Given the description of an element on the screen output the (x, y) to click on. 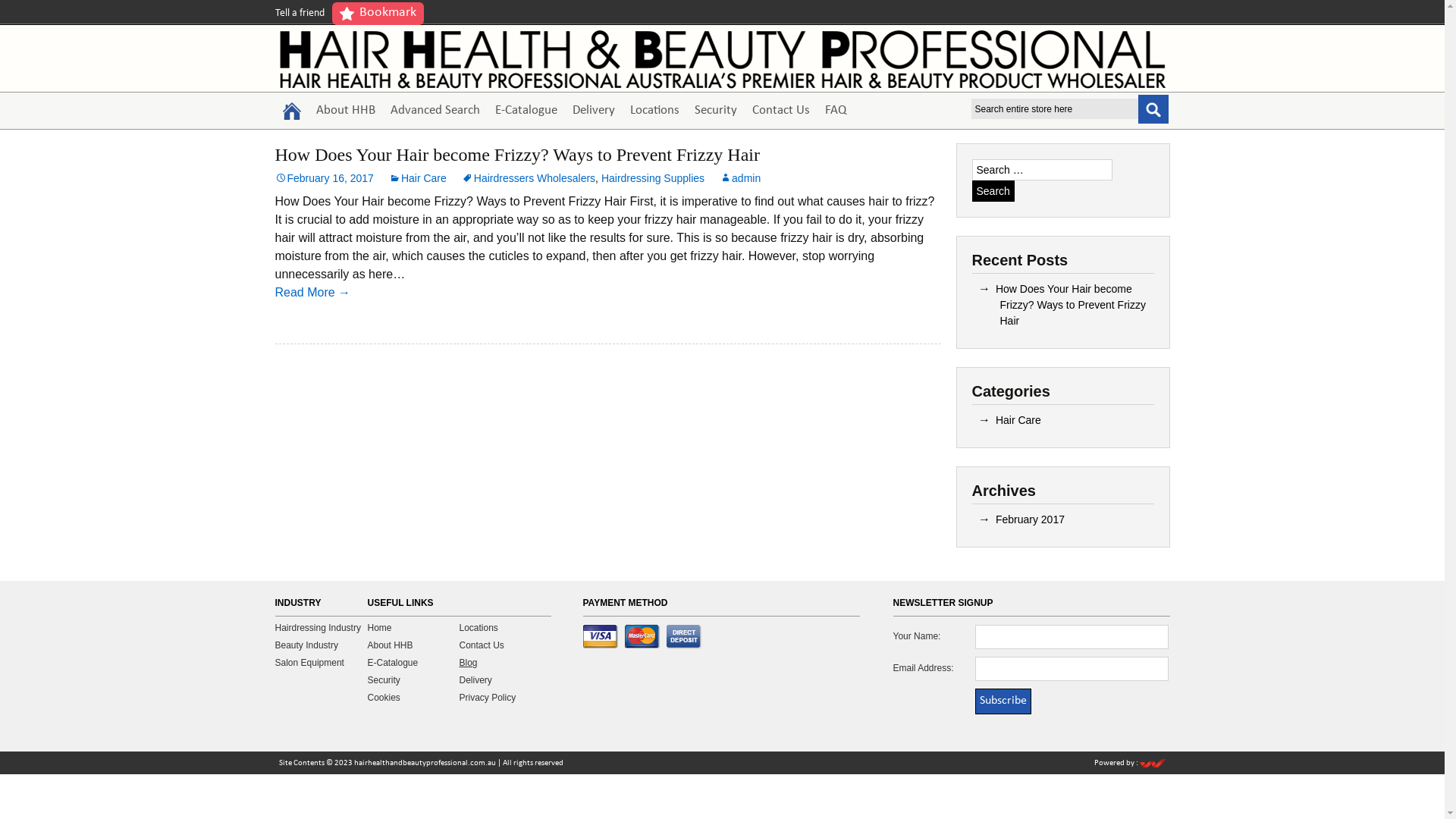
hairhealthandbeautyprofessional.com.au Element type: text (424, 763)
Search Element type: hover (1152, 108)
Cookies Element type: text (383, 697)
Webential Element type: hover (1152, 763)
About HHB Element type: text (389, 645)
Hairdressers Wholesalers Element type: text (528, 178)
Hair Health & Beauty Professional Element type: hover (721, 59)
Hair Care Element type: text (1018, 420)
February 2017 Element type: text (1029, 519)
E-Catalogue Element type: text (392, 662)
Beauty Industry Element type: text (305, 645)
Contact Us Element type: text (780, 110)
Contact Us Element type: text (481, 645)
Delivery Element type: text (475, 679)
February 16, 2017 Element type: text (323, 178)
Security Element type: text (383, 679)
Blog Element type: text (468, 662)
Visa Card Element type: hover (601, 636)
admin Element type: text (739, 178)
Direct Deposit Element type: hover (684, 636)
Hair Care Element type: text (417, 178)
Salon Equipment Element type: text (308, 662)
FAQ Element type: text (835, 110)
Security Element type: text (715, 110)
Advanced Search Element type: text (434, 110)
About HHB Element type: text (344, 110)
Delivery Element type: text (592, 110)
Search for: Element type: hover (1042, 169)
E-Catalogue Element type: text (525, 110)
Tell a friend Element type: text (298, 13)
Locations Element type: text (653, 110)
Hairdressing Industry Element type: text (317, 627)
Bookmark Element type: text (377, 13)
Subscribe Element type: text (1003, 701)
home Element type: hover (291, 110)
Search Element type: text (993, 190)
Locations Element type: text (478, 627)
Home Element type: text (379, 627)
Hairdressing Supplies Element type: text (652, 178)
Master Card Element type: hover (643, 636)
Privacy Policy Element type: text (487, 697)
